Given the description of an element on the screen output the (x, y) to click on. 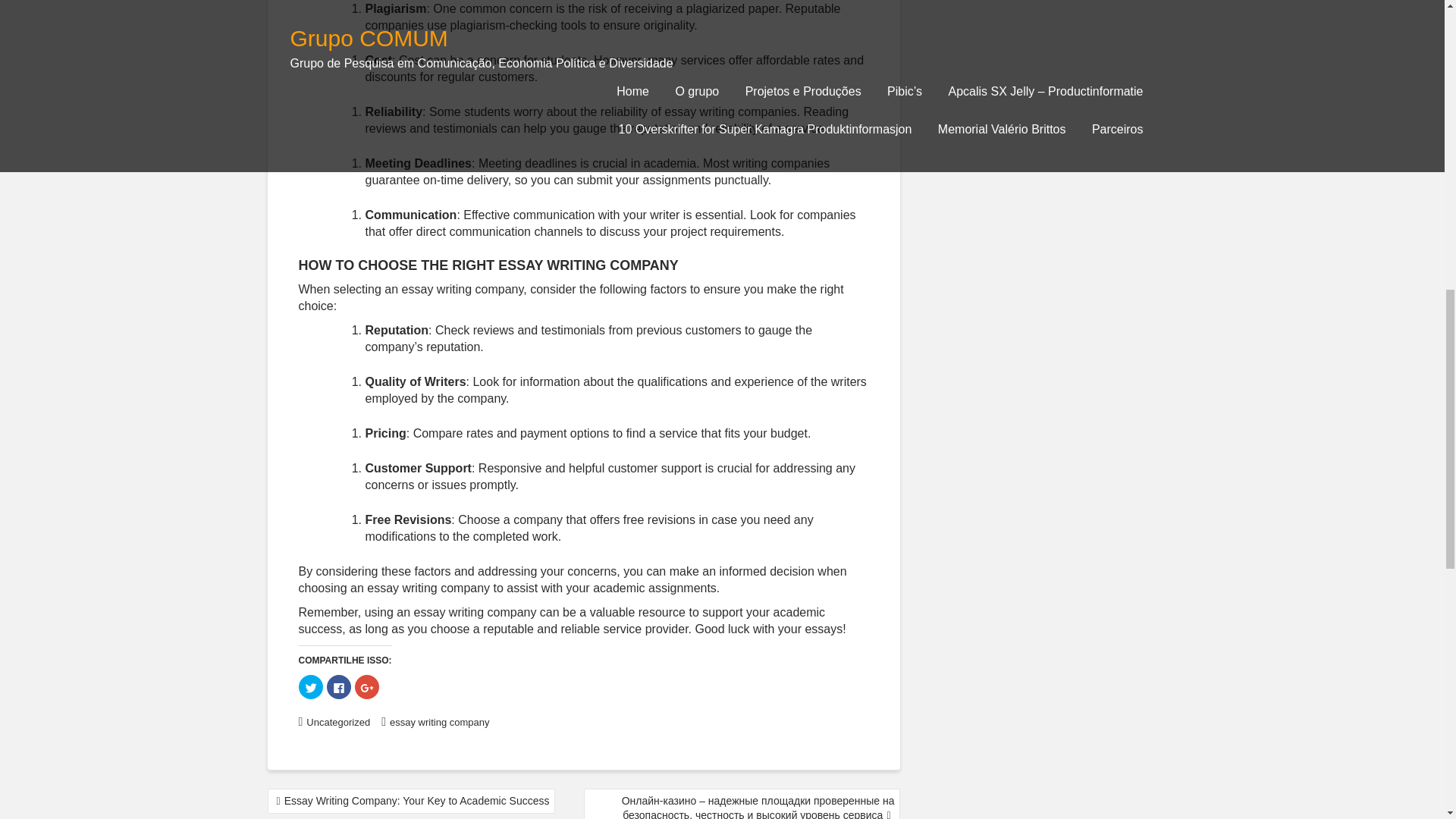
Essay Writing Company: Your Key to Academic Success (410, 801)
Uncategorized (337, 722)
Clique para compartilhar no Twitter (310, 686)
Clique para compartilhar no Facebook (338, 686)
essay writing company (439, 722)
